Given the description of an element on the screen output the (x, y) to click on. 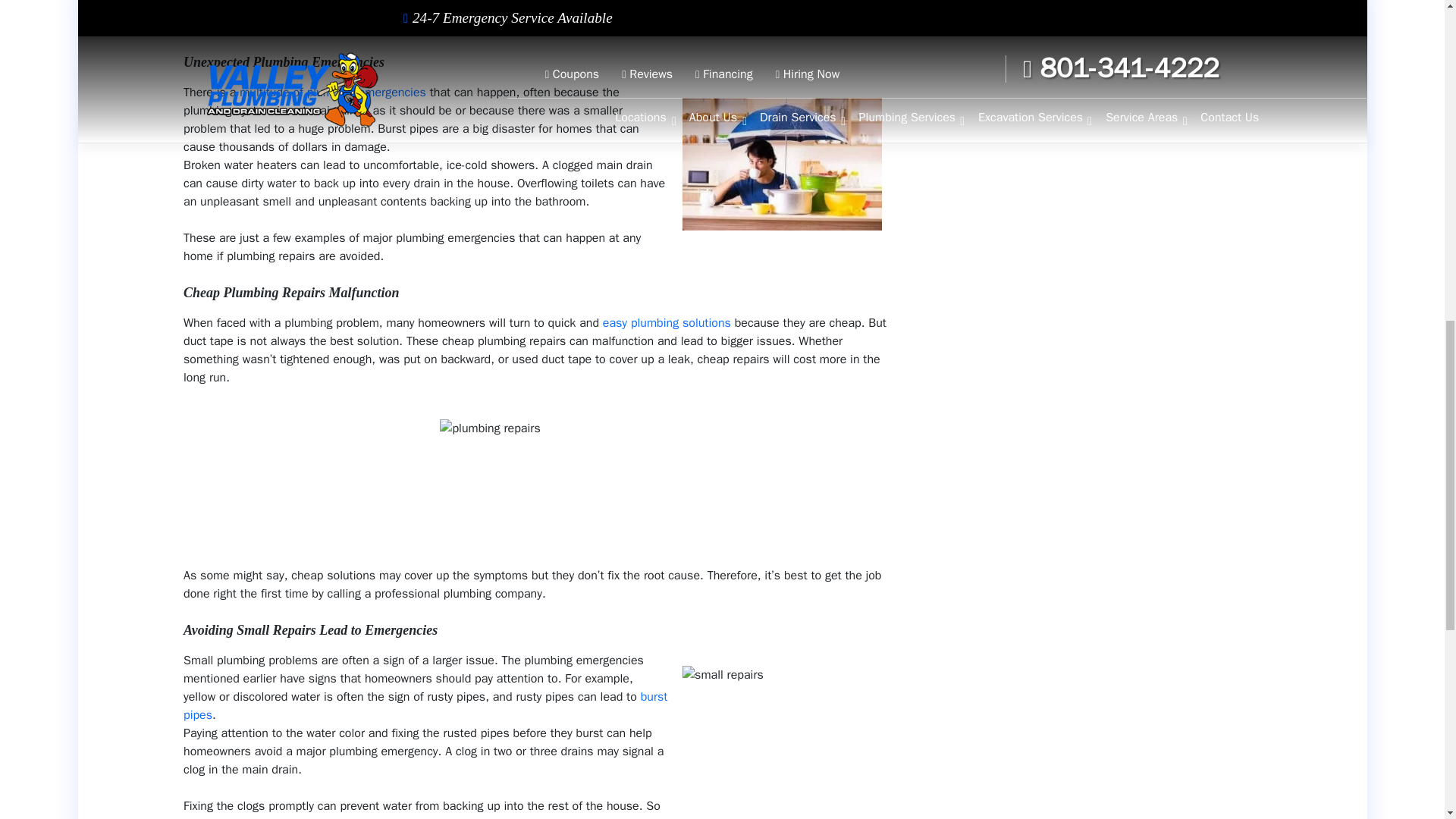
plumbing emergencies (333, 92)
burst pipes (424, 705)
easy plumbing solutions (666, 322)
